Given the description of an element on the screen output the (x, y) to click on. 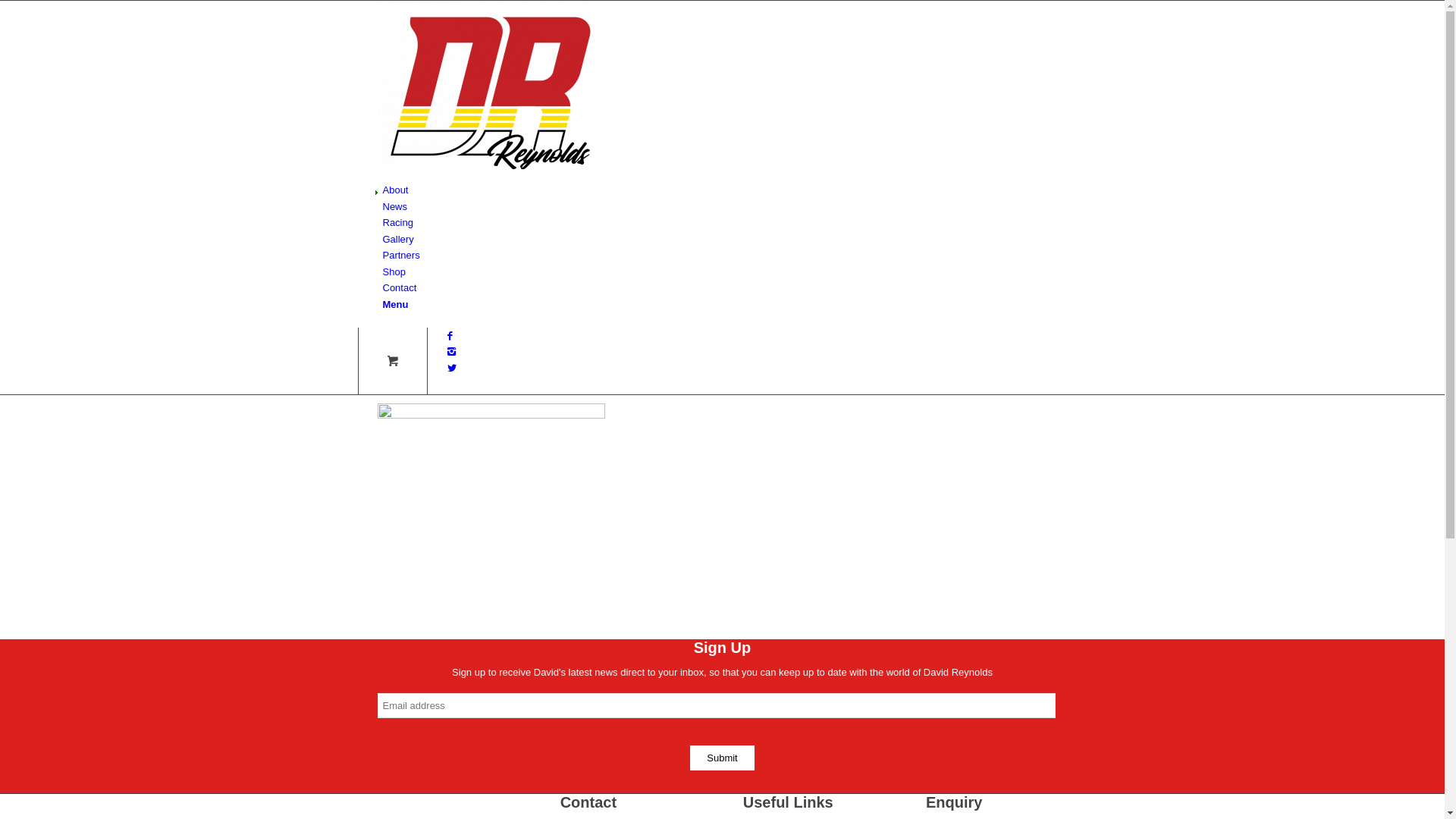
Shop Element type: text (393, 271)
News Element type: text (394, 206)
Gallery Element type: text (397, 238)
Twitter Element type: hover (451, 367)
Contact Element type: text (399, 287)
Partners Element type: text (400, 254)
Facebook Element type: hover (449, 335)
Submit Element type: text (721, 757)
Menu Element type: text (394, 304)
Racing Element type: text (397, 222)
Instagram Element type: hover (451, 351)
About Element type: text (394, 189)
